Given the description of an element on the screen output the (x, y) to click on. 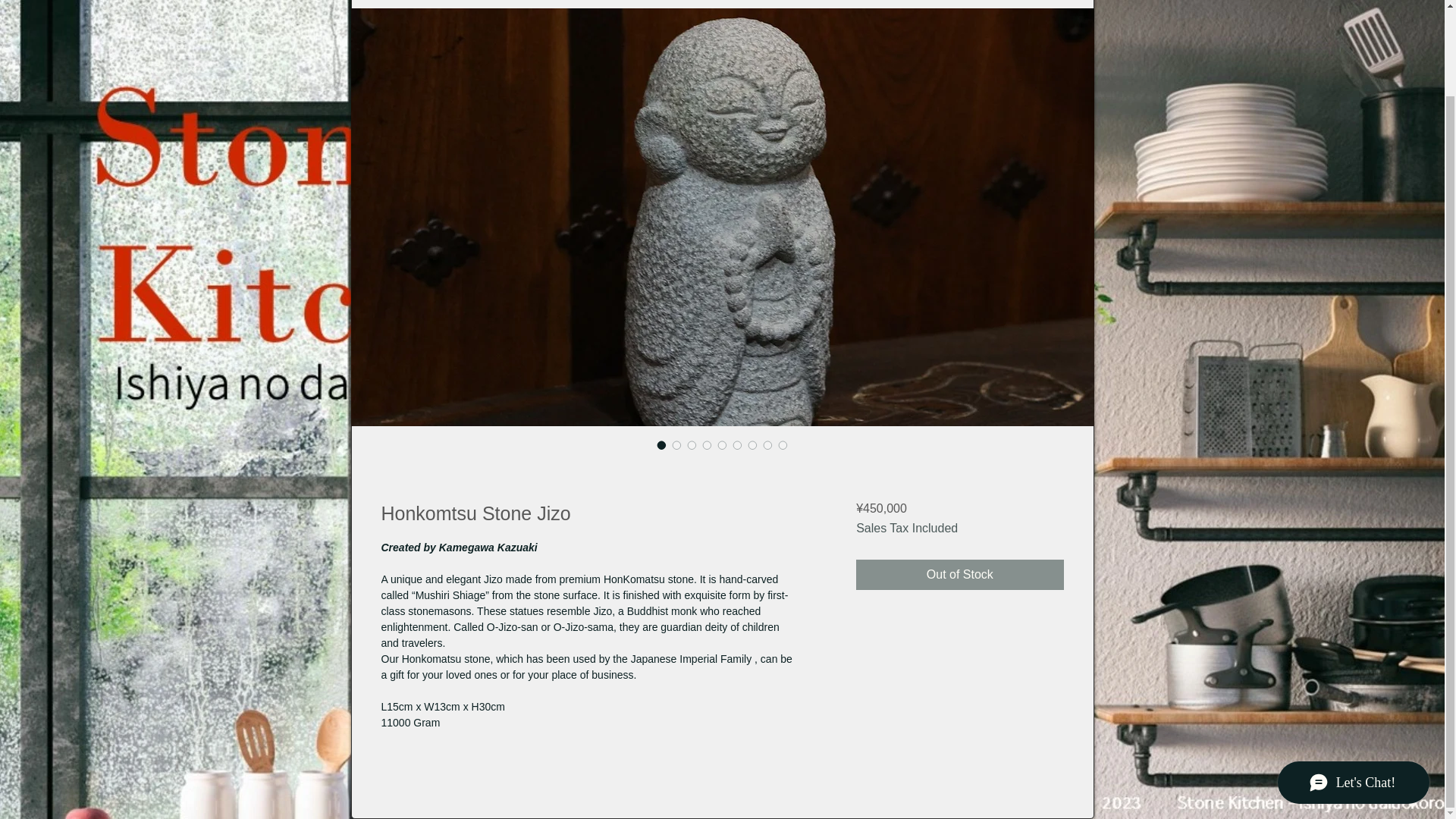
Out of Stock (959, 574)
